Given the description of an element on the screen output the (x, y) to click on. 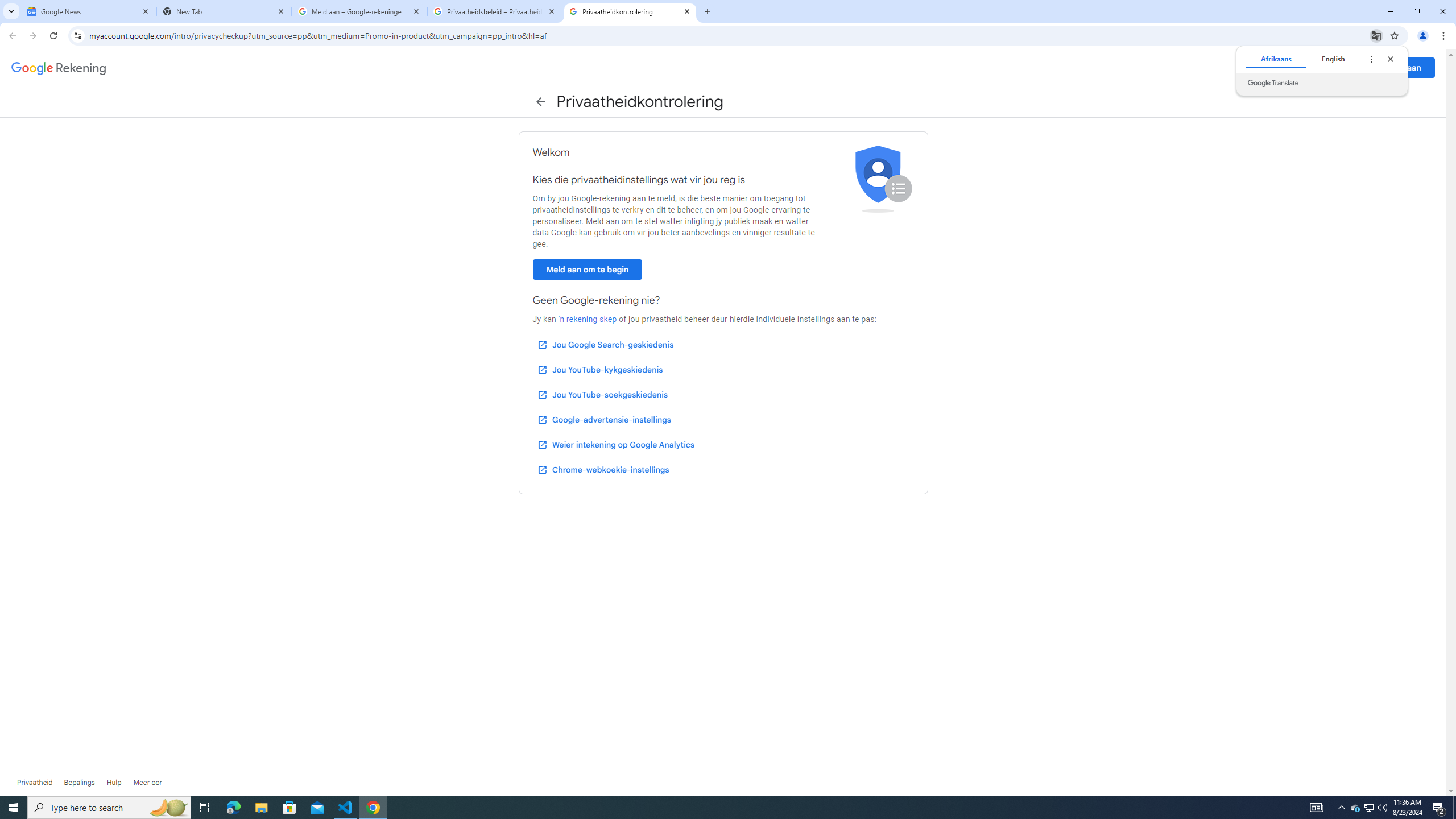
Meld aan om te begin (587, 269)
Jou Google Search-geskiedenis (605, 344)
Privaatheidkontrolering (630, 11)
Translate options (1370, 58)
Hulp (114, 782)
Translate this page (1376, 35)
Meld aan (1403, 67)
Google-programme (1353, 67)
